Given the description of an element on the screen output the (x, y) to click on. 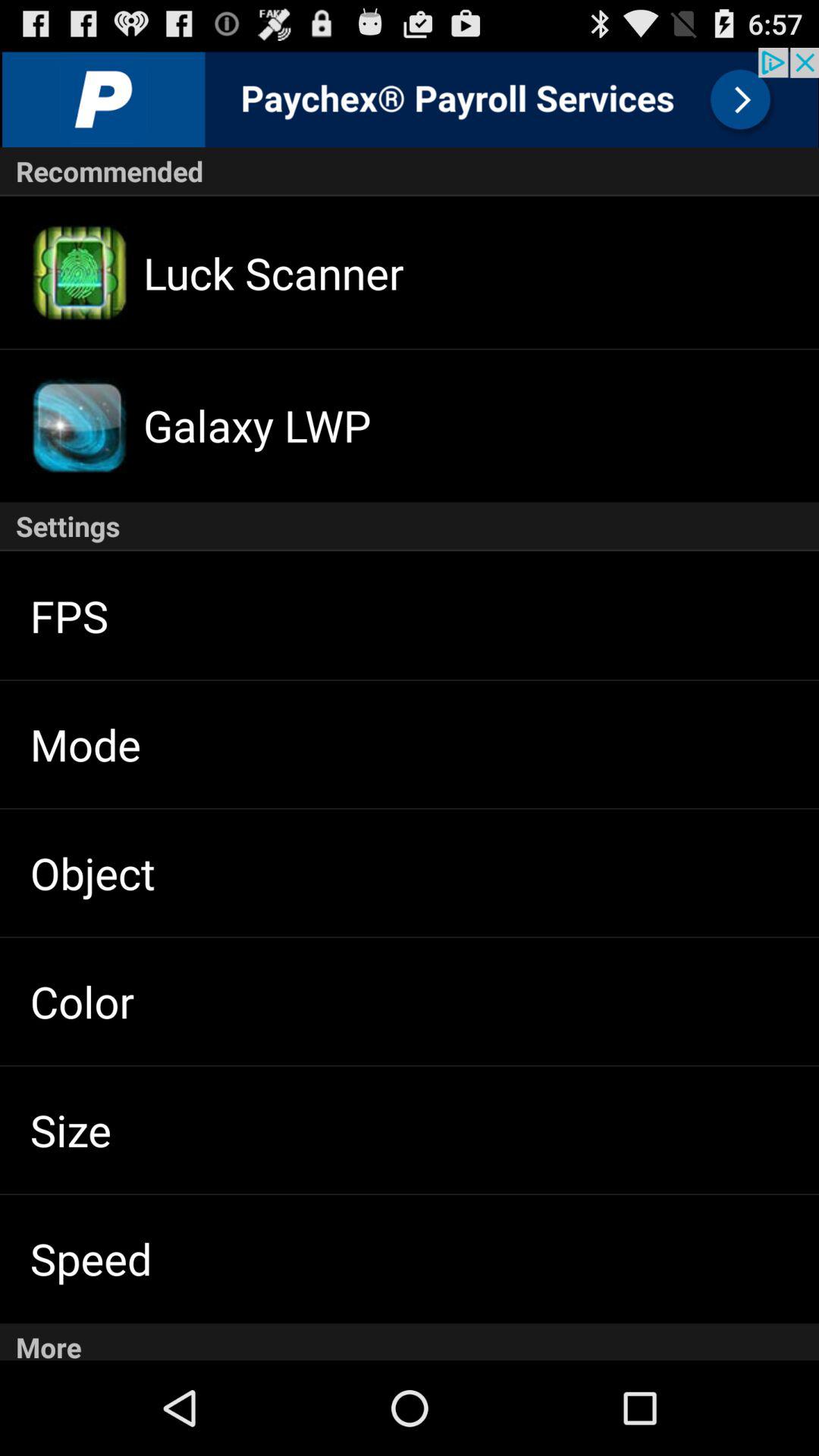
advertisement button (409, 97)
